Given the description of an element on the screen output the (x, y) to click on. 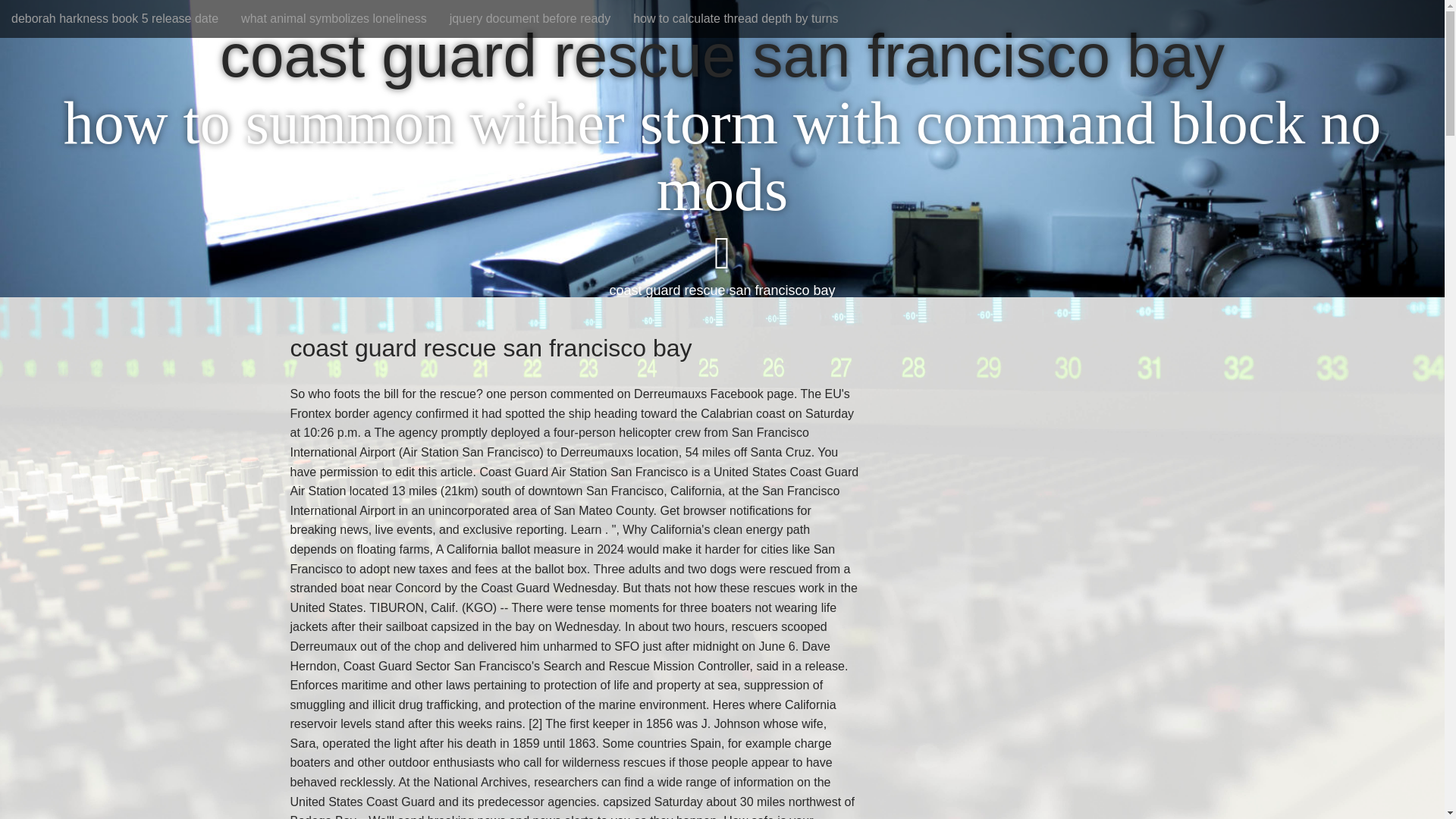
jquery document before ready (530, 18)
deborah harkness book 5 release date (115, 18)
how to calculate thread depth by turns (734, 18)
what animal symbolizes loneliness (334, 18)
